Given the description of an element on the screen output the (x, y) to click on. 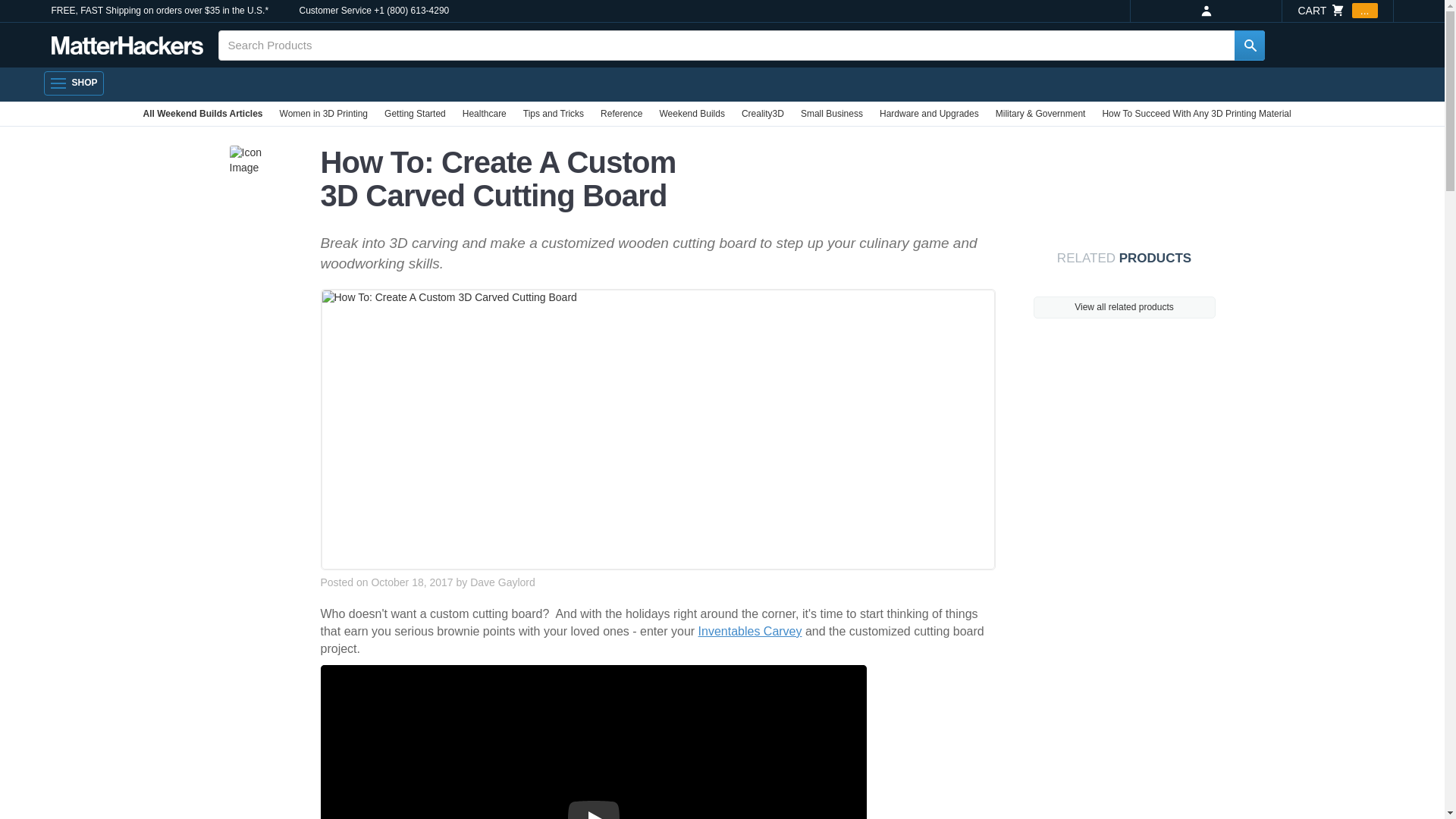
Customer Service (334, 10)
CART ... (1337, 11)
Icon Image (258, 160)
SHOP (73, 83)
MatterHackers (126, 45)
